Given the description of an element on the screen output the (x, y) to click on. 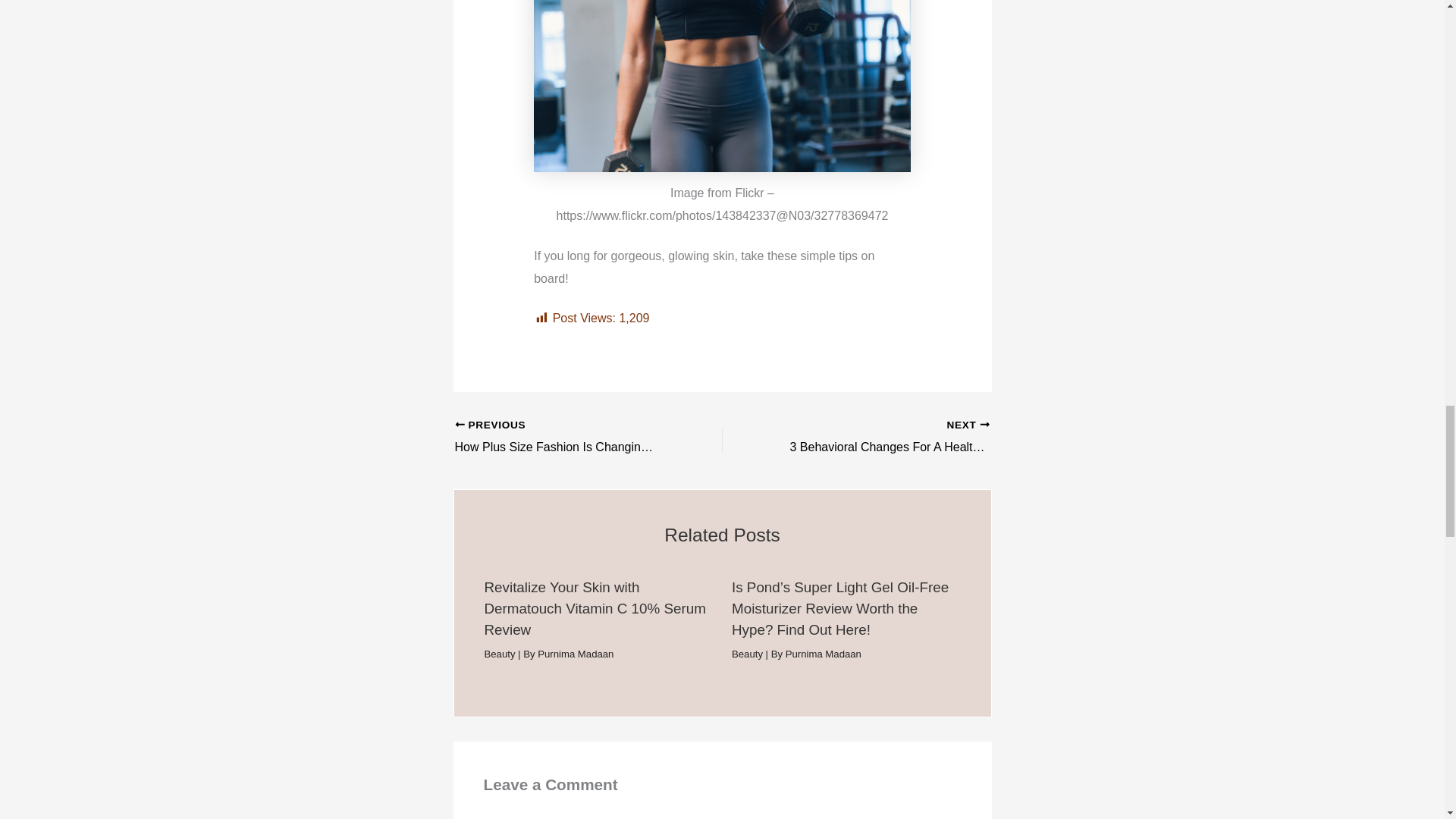
How Plus Size Fashion Is Changing The Way We See Fashion (561, 437)
View all posts by Purnima Madaan (574, 654)
View all posts by Purnima Madaan (823, 654)
3 Behavioral Changes For A Healthier You (882, 437)
